Given the description of an element on the screen output the (x, y) to click on. 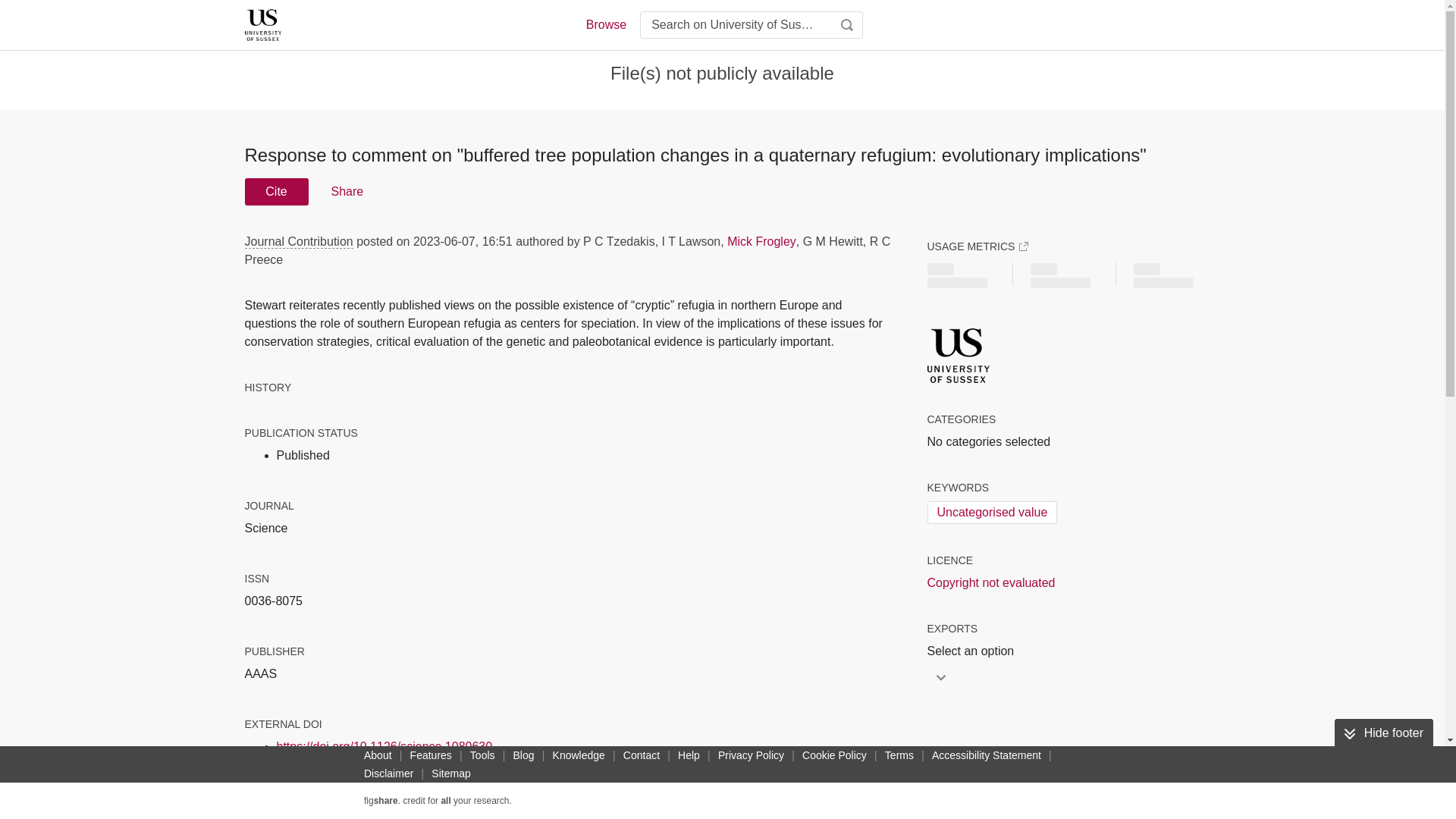
USAGE METRICS (976, 246)
Knowledge (579, 755)
Hide footer (1383, 733)
Tools (482, 755)
Blog (523, 755)
Uncategorised value (991, 512)
Disclaimer (388, 773)
Share (346, 191)
Mick Frogley (761, 241)
Sitemap (450, 773)
